Given the description of an element on the screen output the (x, y) to click on. 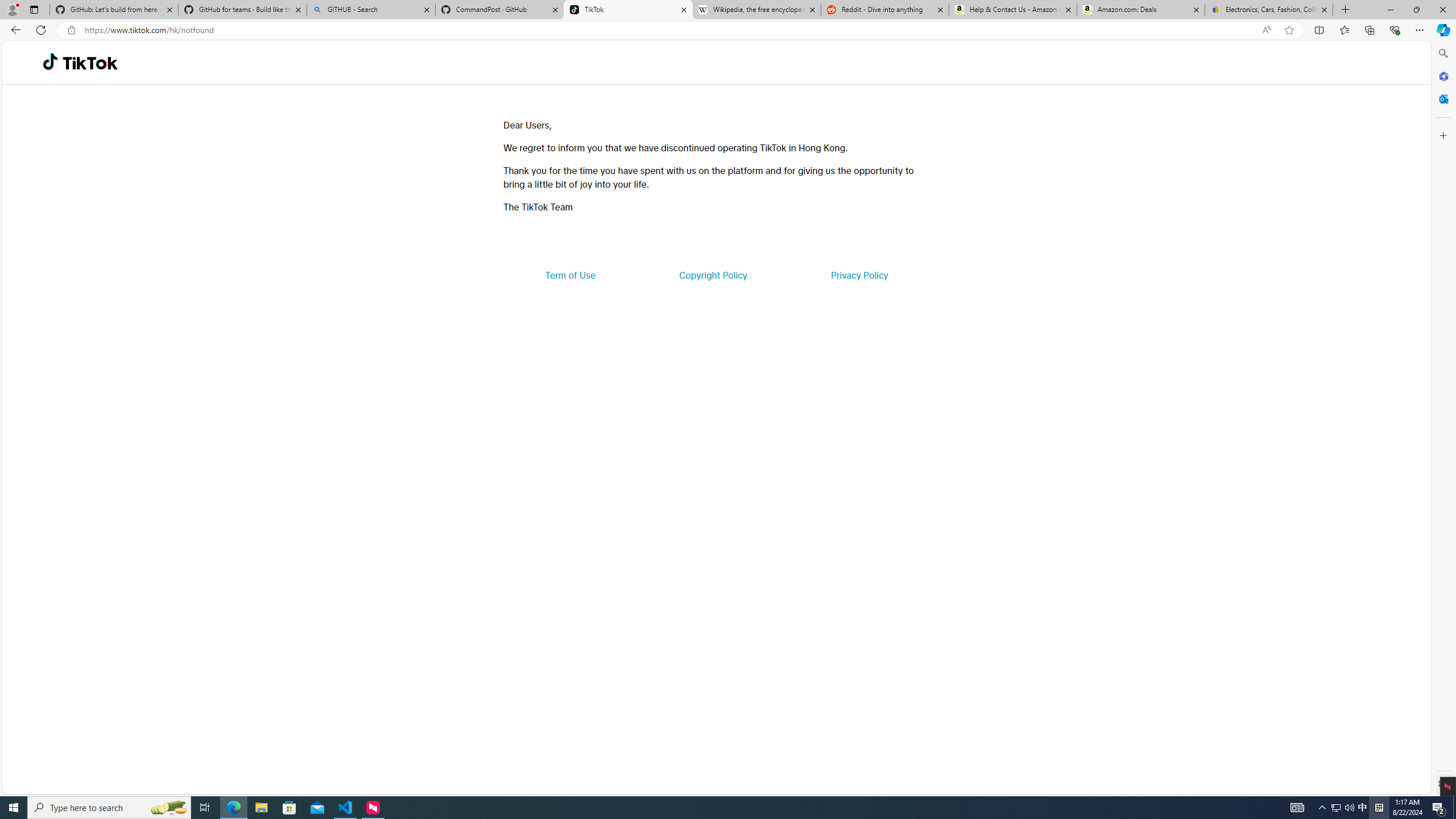
TikTok (628, 9)
Copyright Policy (712, 274)
TikTok (89, 62)
Privacy Policy (858, 274)
Amazon.com: Deals (1140, 9)
